Given the description of an element on the screen output the (x, y) to click on. 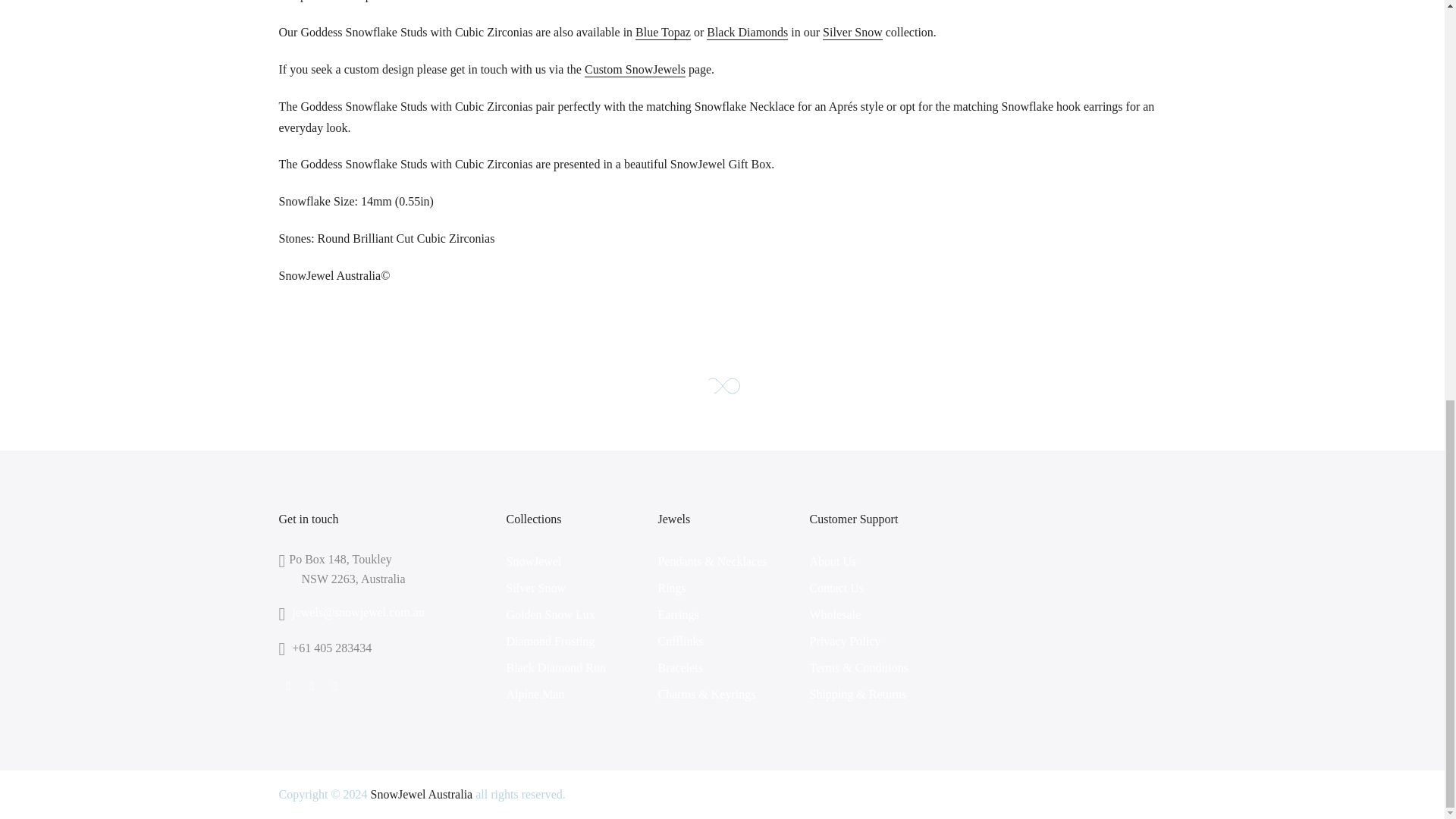
Goddess Snowflake Studs with Black Diamonds (746, 32)
Custom SnowJewel (635, 69)
Silver Snow collection (852, 32)
Goddess Snowflake Studs with Blue Topaz (662, 32)
